Given the description of an element on the screen output the (x, y) to click on. 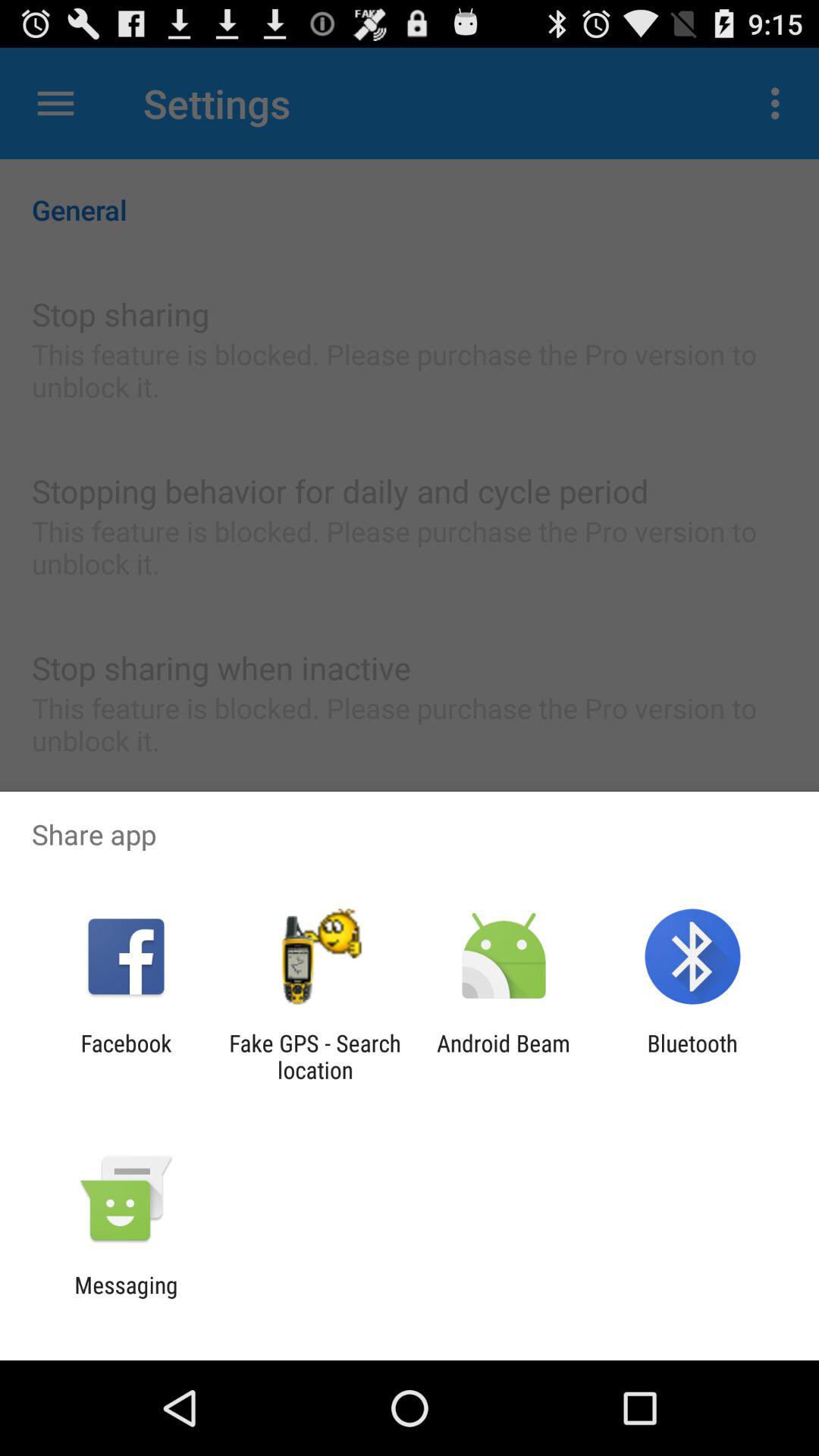
open the fake gps search item (314, 1056)
